Given the description of an element on the screen output the (x, y) to click on. 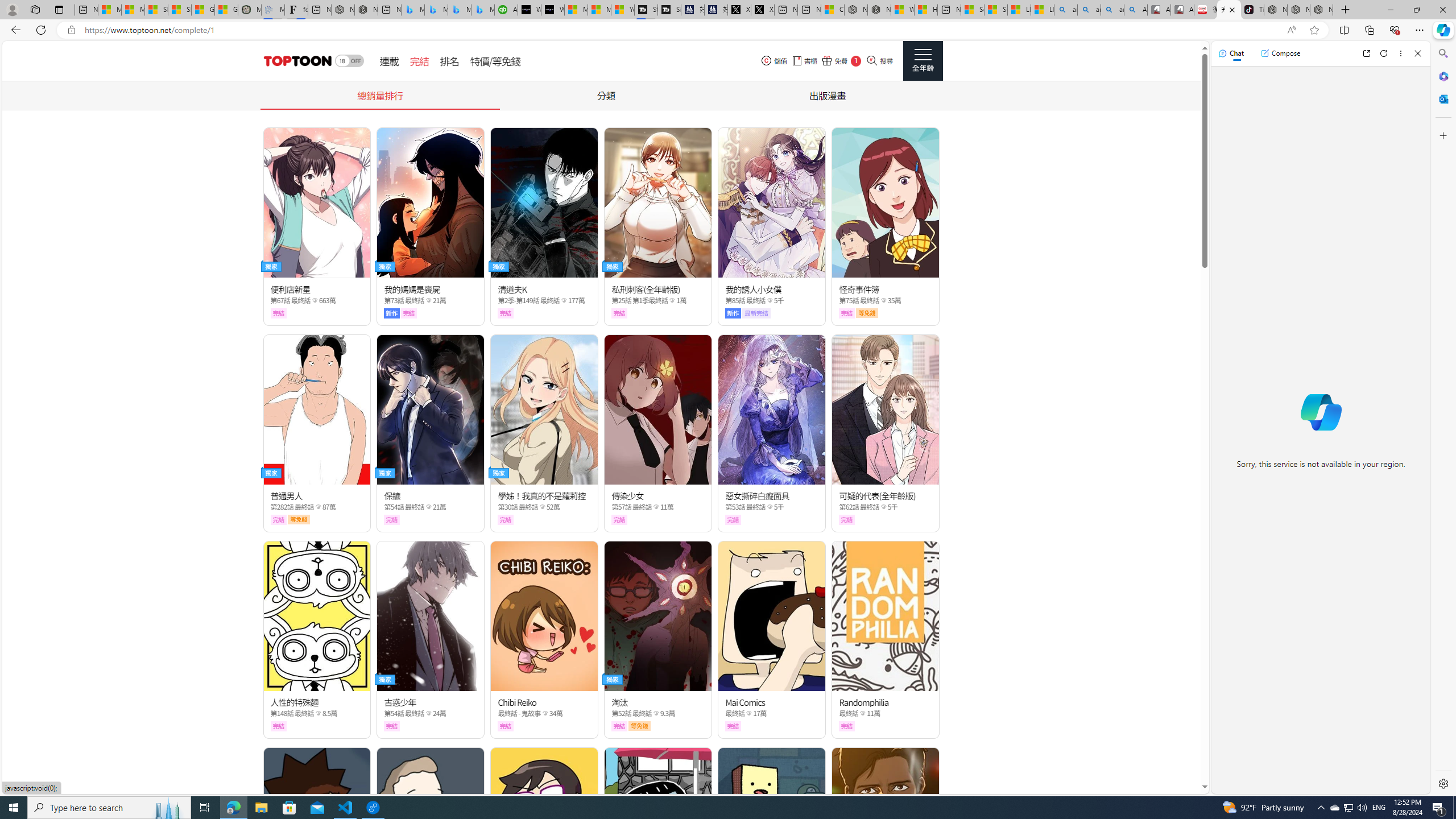
Nordace Siena Pro 15 Backpack (1298, 9)
Chat (1231, 52)
Class:  switch_18mode actionAdultBtn (349, 60)
Compose (1280, 52)
